Given the description of an element on the screen output the (x, y) to click on. 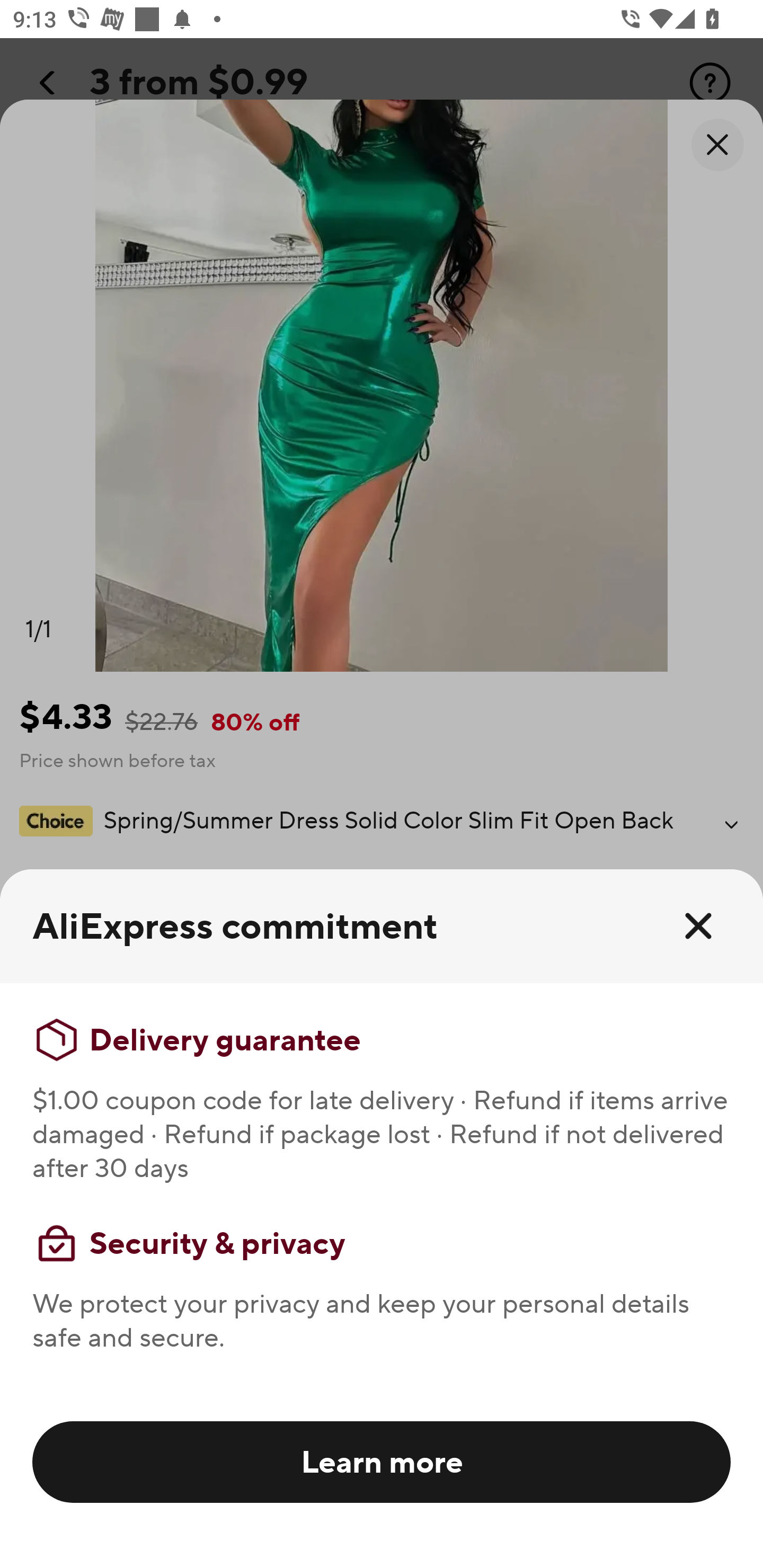
Learn more (381, 1461)
